Given the description of an element on the screen output the (x, y) to click on. 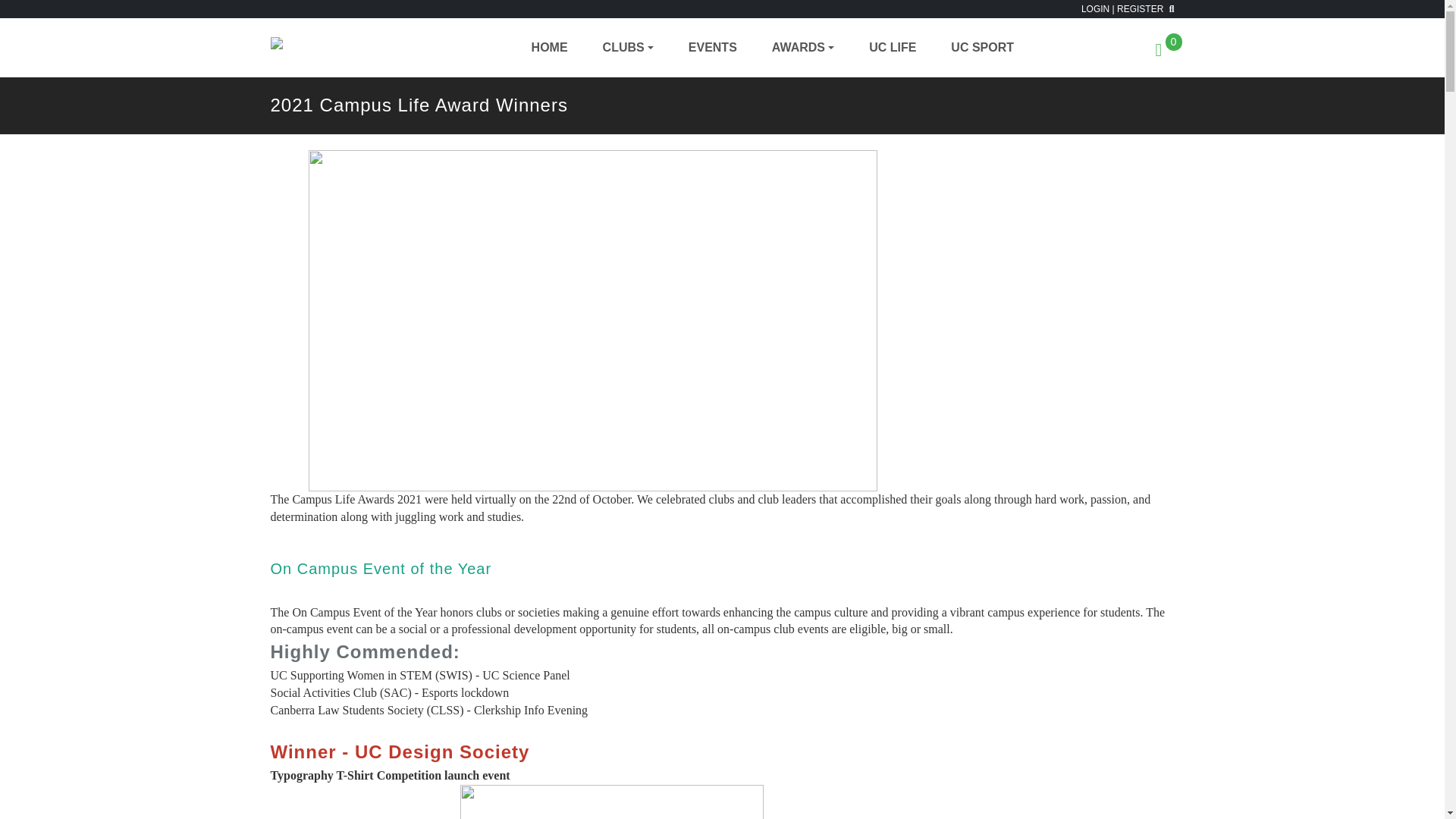
UC LIFE (877, 47)
AWARDS (787, 47)
CLUBS (612, 47)
EVENTS (697, 47)
HOME (534, 47)
UC SPORT (966, 47)
LOGIN (1095, 9)
REGISTER (1139, 9)
